Given the description of an element on the screen output the (x, y) to click on. 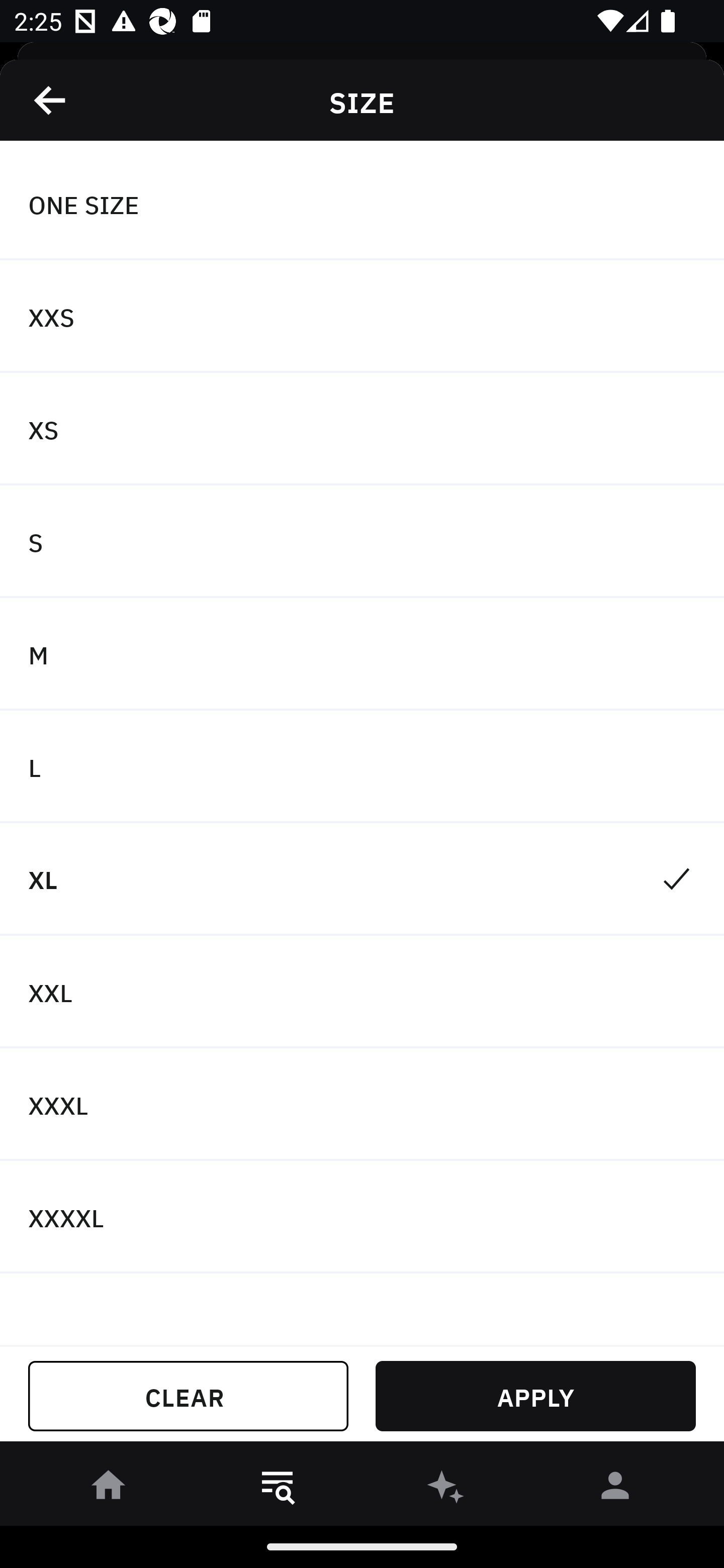
 (50, 100)
ONE SIZE (362, 203)
XXS (362, 316)
XS (362, 429)
S (362, 541)
M (362, 653)
L (362, 766)
XL  (362, 879)
XXL (362, 992)
XXXL (362, 1104)
XXXXL (362, 1216)
CLEAR  (188, 1396)
APPLY (535, 1396)
󰋜 (108, 1488)
󱎸 (277, 1488)
󰫢 (446, 1488)
󰀄 (615, 1488)
